Given the description of an element on the screen output the (x, y) to click on. 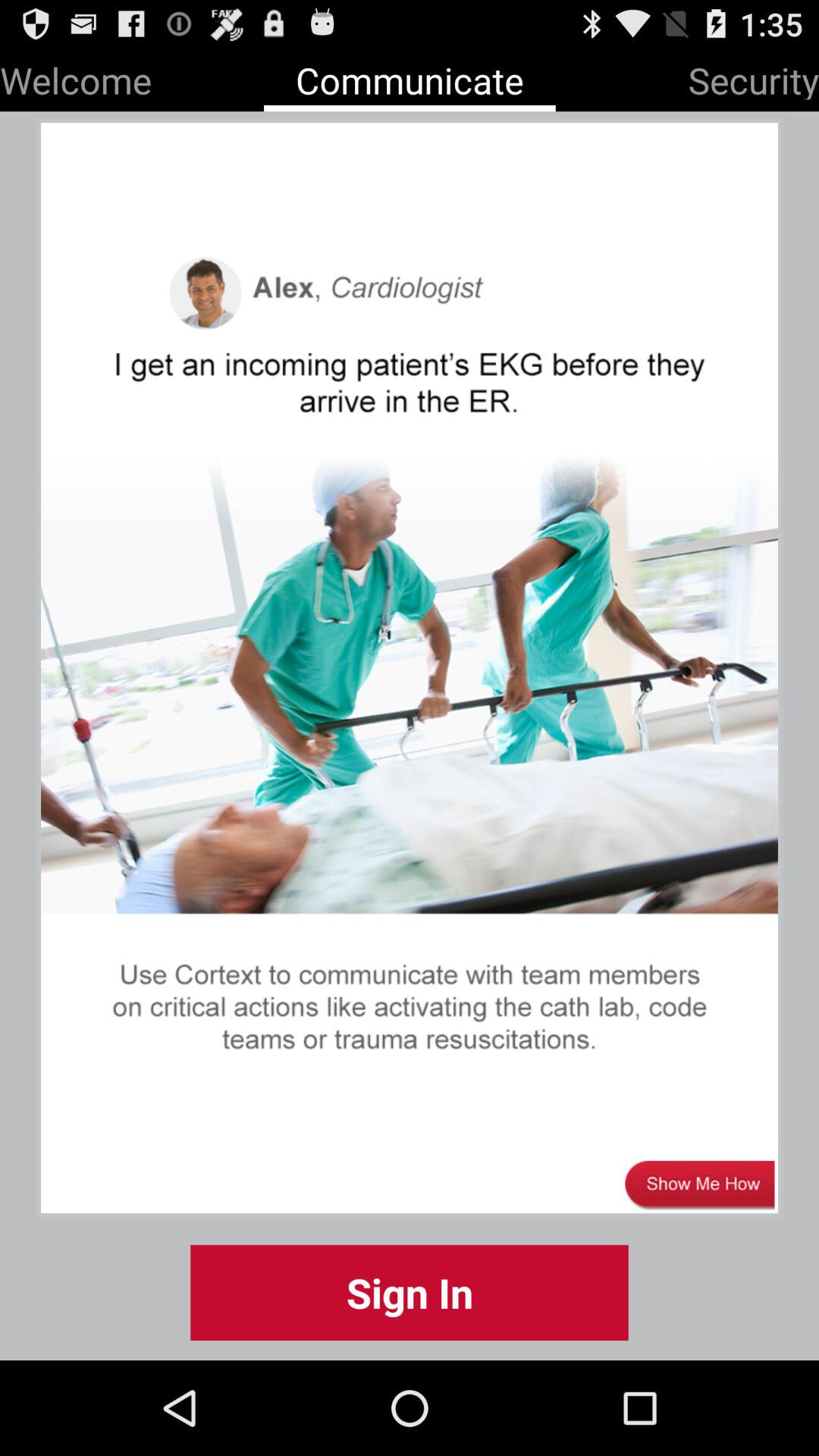
scroll to the security item (753, 77)
